Given the description of an element on the screen output the (x, y) to click on. 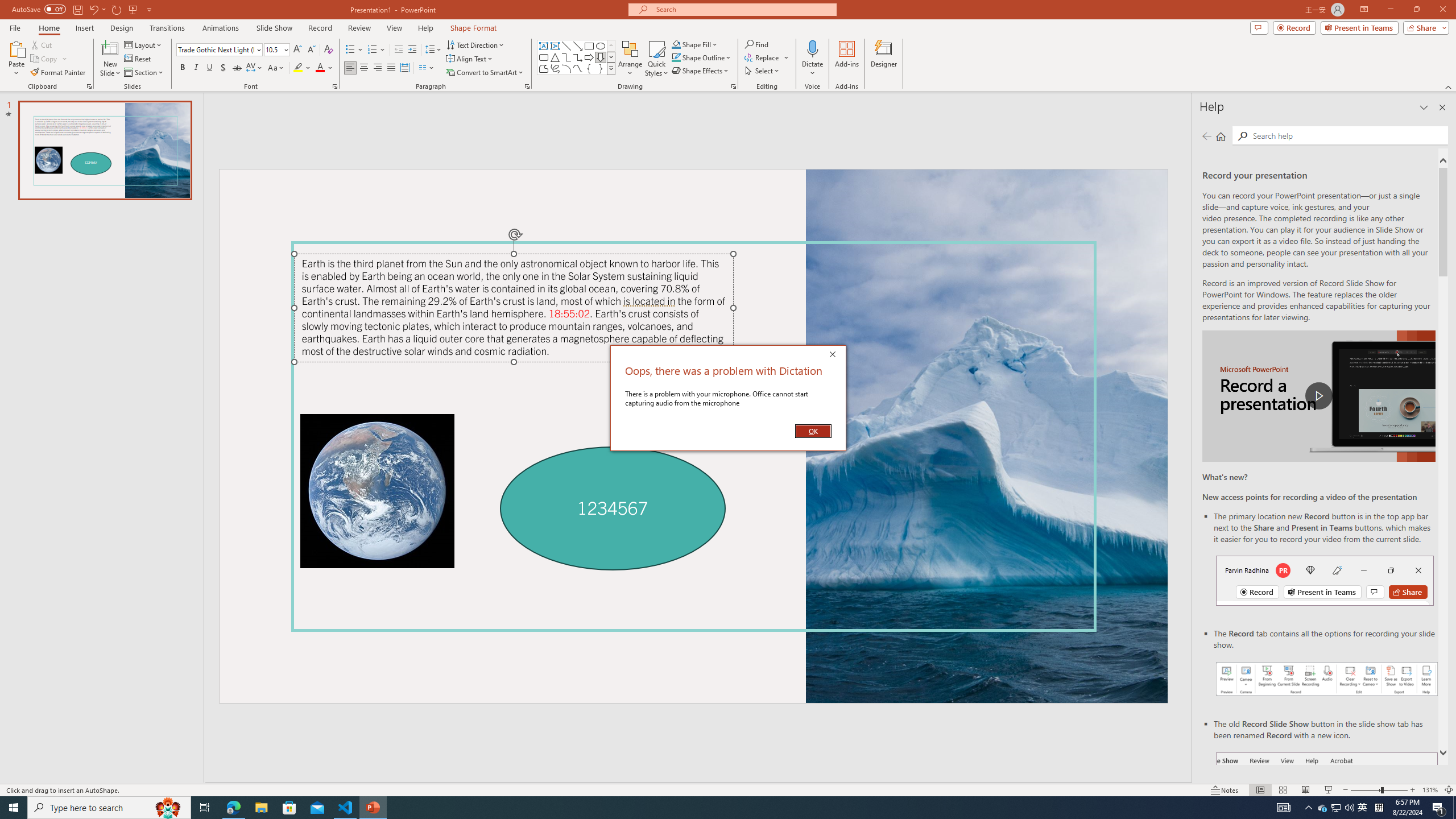
Restore Down (1416, 9)
New Slide (110, 48)
Transitions (167, 28)
Previous page (1206, 136)
Bullets (354, 49)
Microsoft search (742, 9)
Format Painter (58, 72)
Character Spacing (254, 67)
Shape Outline Teal, Accent 1 (675, 56)
Align Text (470, 58)
Show desktop (1454, 807)
